Given the description of an element on the screen output the (x, y) to click on. 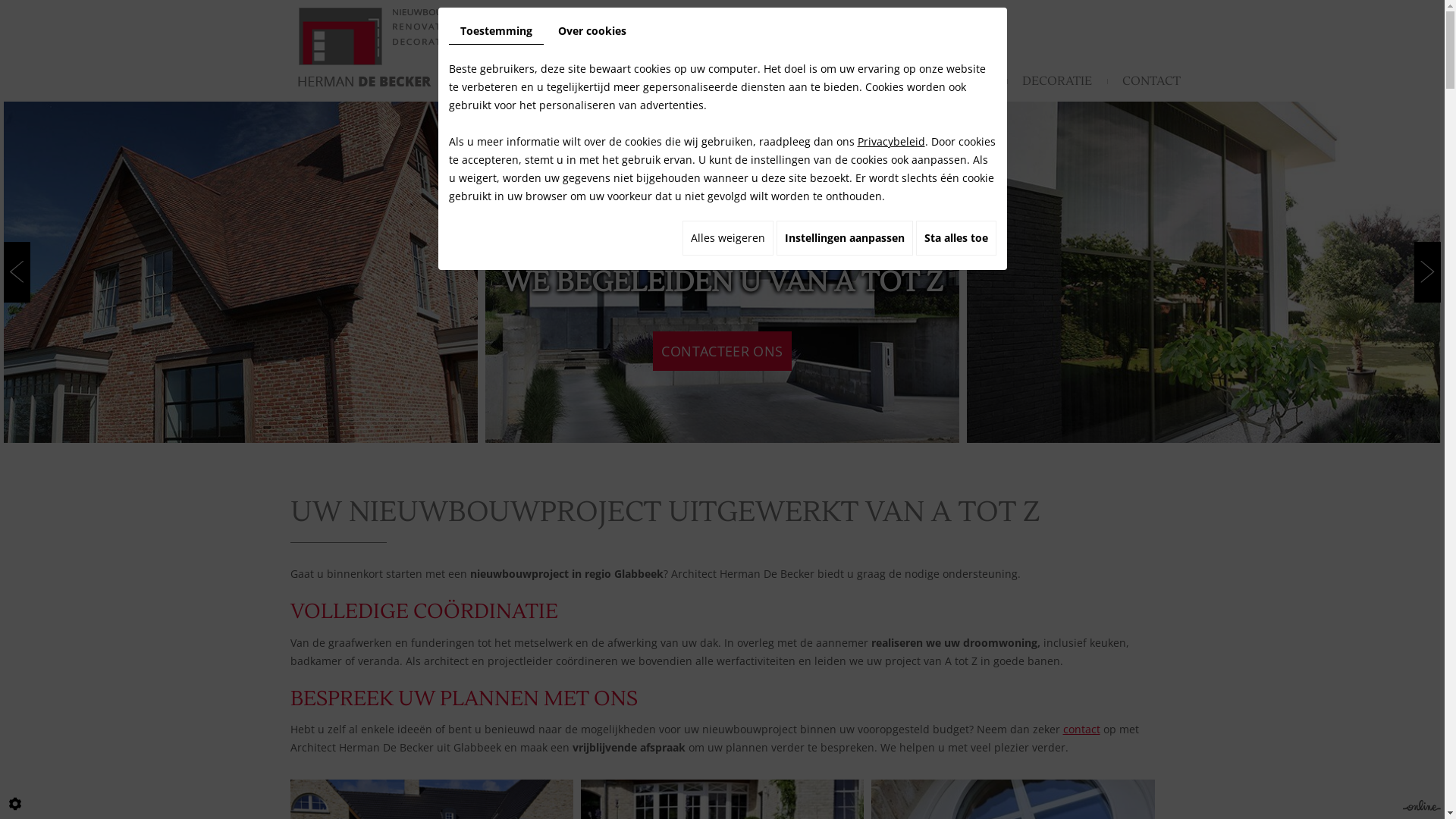
CONTACT Element type: text (1151, 81)
  Element type: hover (722, 271)
  Element type: hover (240, 271)
Instellingen aanpassen Element type: text (844, 237)
Cookie-instelling bewerken Element type: text (14, 803)
DECORATIE Element type: text (1056, 81)
VERBOUWINGEN Element type: text (816, 81)
IN UITVOERING Element type: text (945, 81)
Over cookies Element type: text (591, 30)
  Element type: hover (1203, 271)
contact Element type: text (1081, 728)
Toestemming Element type: text (495, 31)
CONTACTEER ONS Element type: text (721, 350)
Herman De Becker - Architect

 Element type: hover (414, 44)
Sta alles toe Element type: text (956, 237)
Privacybeleid Element type: text (890, 141)
HOME Element type: text (604, 81)
Alles weigeren Element type: text (727, 237)
NIEUWBOUW Element type: text (694, 81)
